Given the description of an element on the screen output the (x, y) to click on. 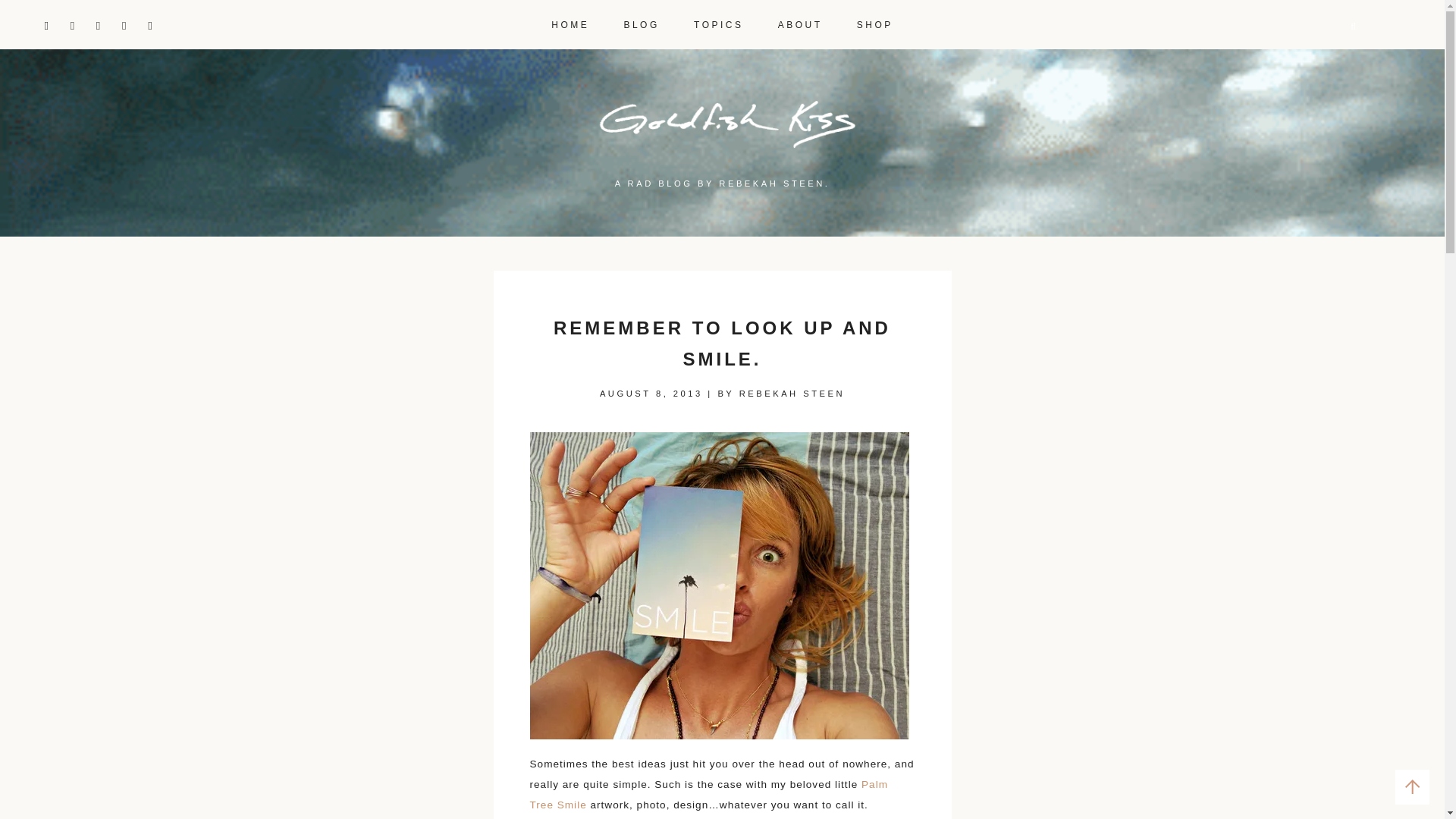
BLOG (641, 18)
TOPICS (718, 18)
AUGUST 8, 2013 (651, 393)
Search (28, 9)
HOME (570, 18)
SHOP (875, 18)
ABOUT (799, 18)
Palm Tree Smile (707, 794)
REBEKAH STEEN (791, 393)
Search for: (1311, 26)
